Given the description of an element on the screen output the (x, y) to click on. 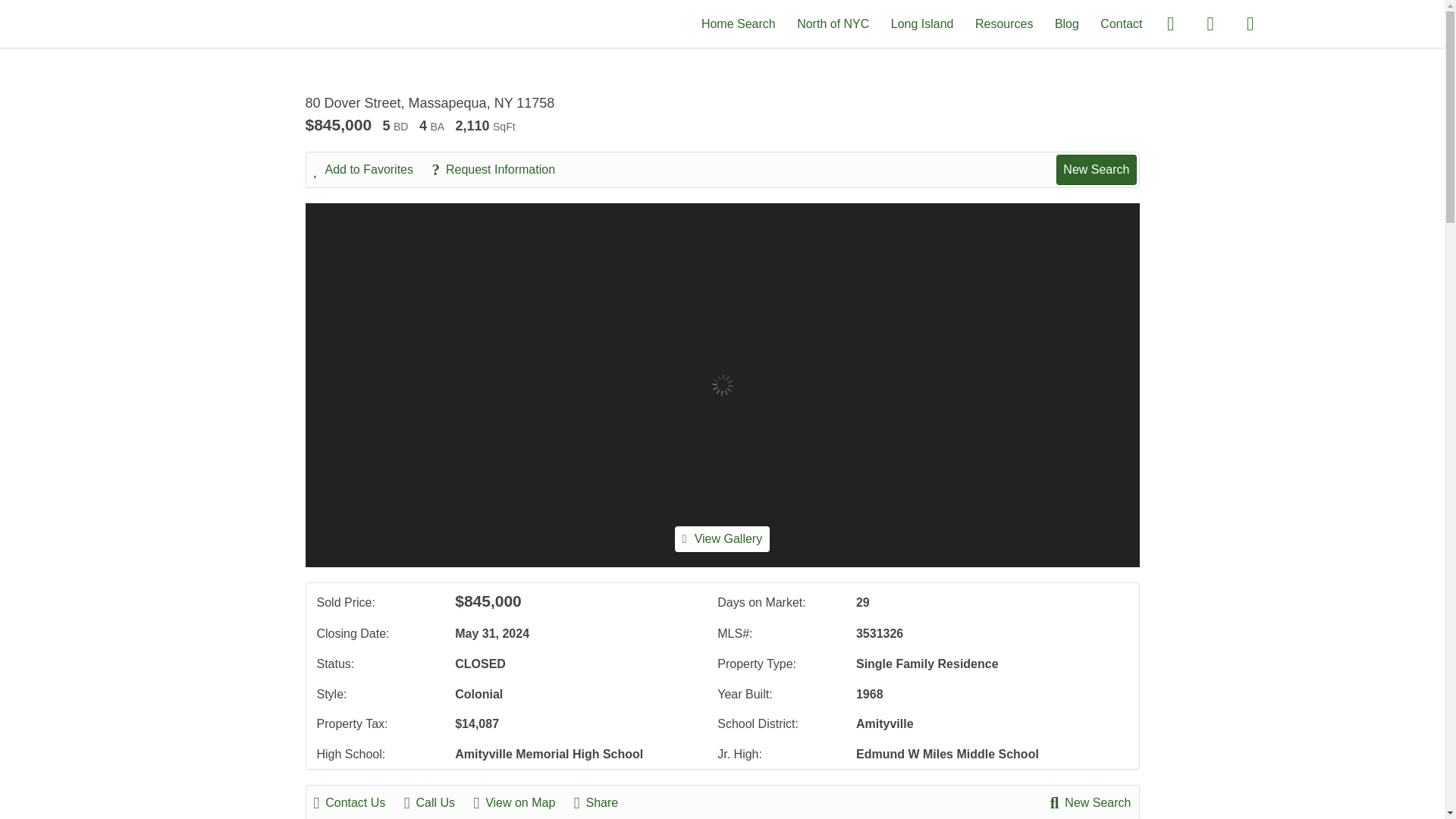
View Gallery (722, 539)
Blog (1066, 23)
Request Information (500, 169)
Contact Us (357, 802)
Home Search (738, 23)
Share (603, 802)
View on Map (521, 802)
Contact (1120, 23)
View Gallery (722, 538)
Add to Favorites (371, 169)
